Given the description of an element on the screen output the (x, y) to click on. 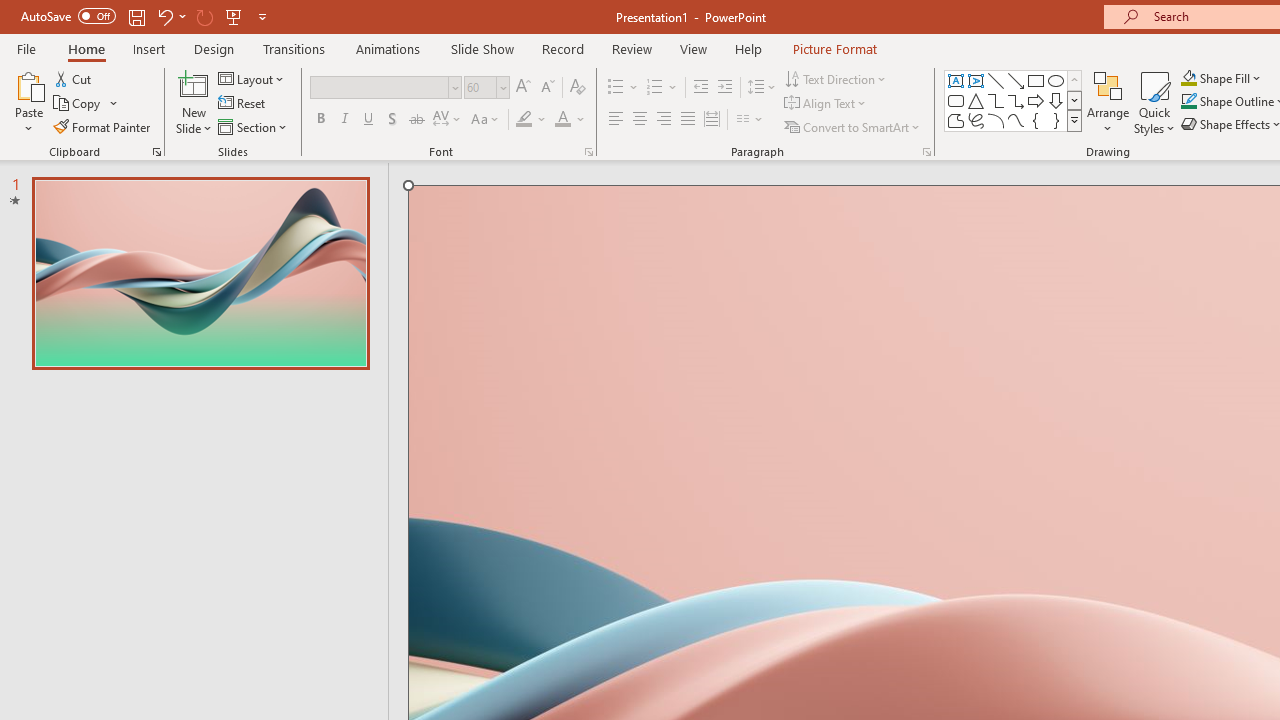
Picture Format (834, 48)
